Given the description of an element on the screen output the (x, y) to click on. 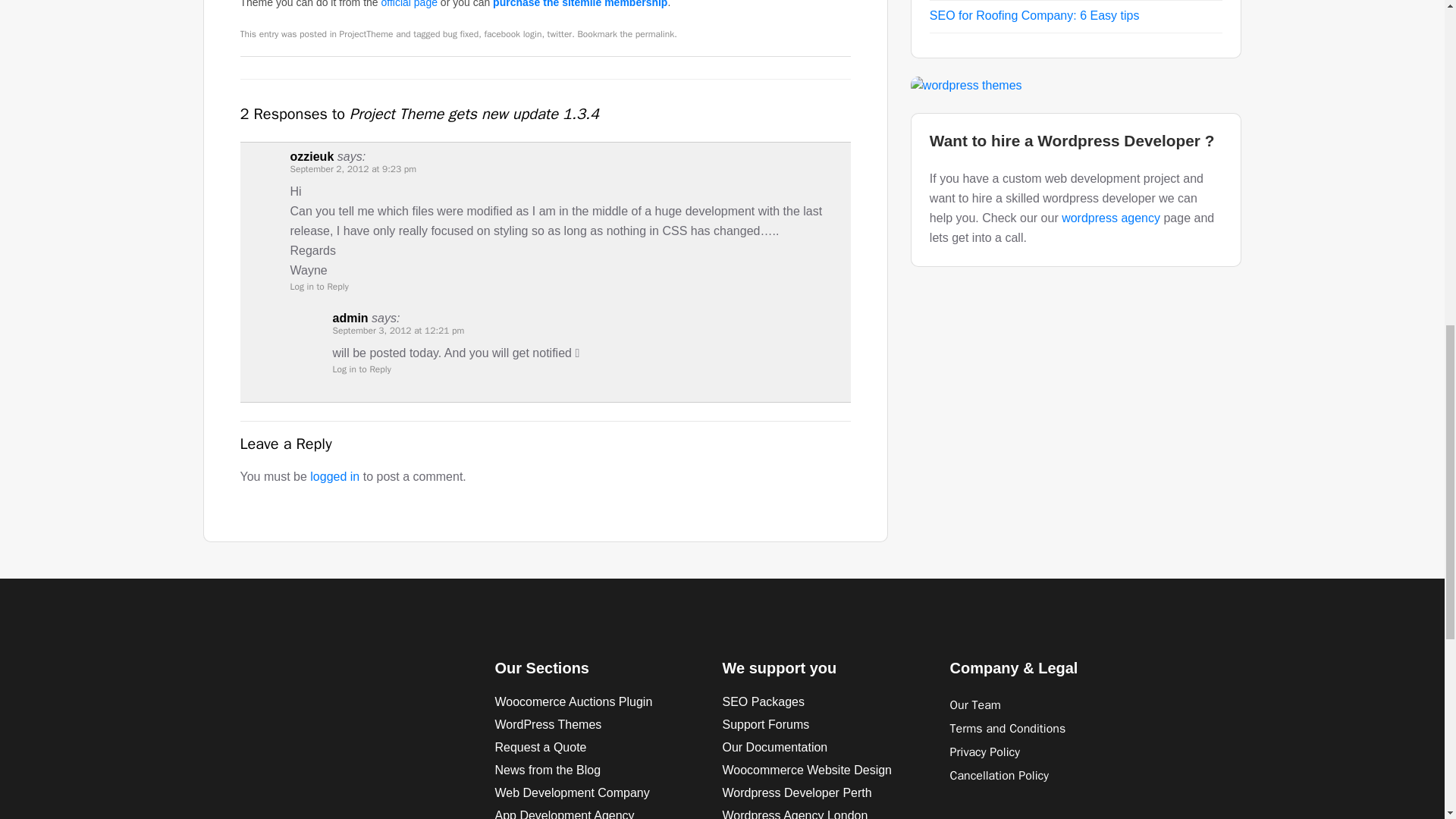
twitter (559, 33)
Log in to Reply (360, 369)
September 3, 2012 at 12:21 pm (397, 330)
ProjectTheme (366, 33)
official page (408, 6)
September 2, 2012 at 9:23 pm (352, 169)
bug fixed (460, 33)
Permalink to Project Theme gets new update 1.3.4 (654, 33)
purchase the sitemile membership (579, 6)
permalink (654, 33)
